Given the description of an element on the screen output the (x, y) to click on. 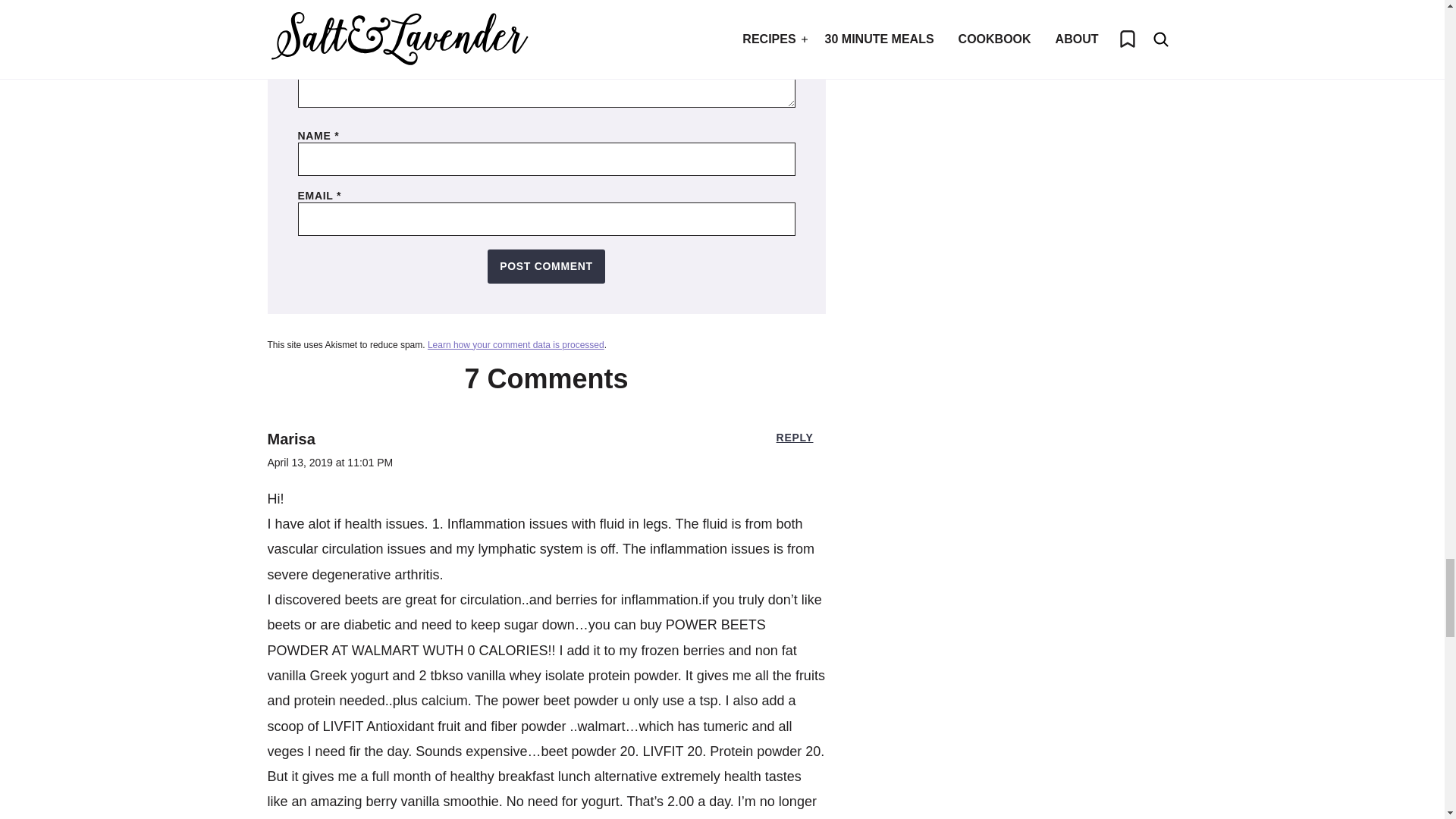
Post Comment (546, 266)
